Given the description of an element on the screen output the (x, y) to click on. 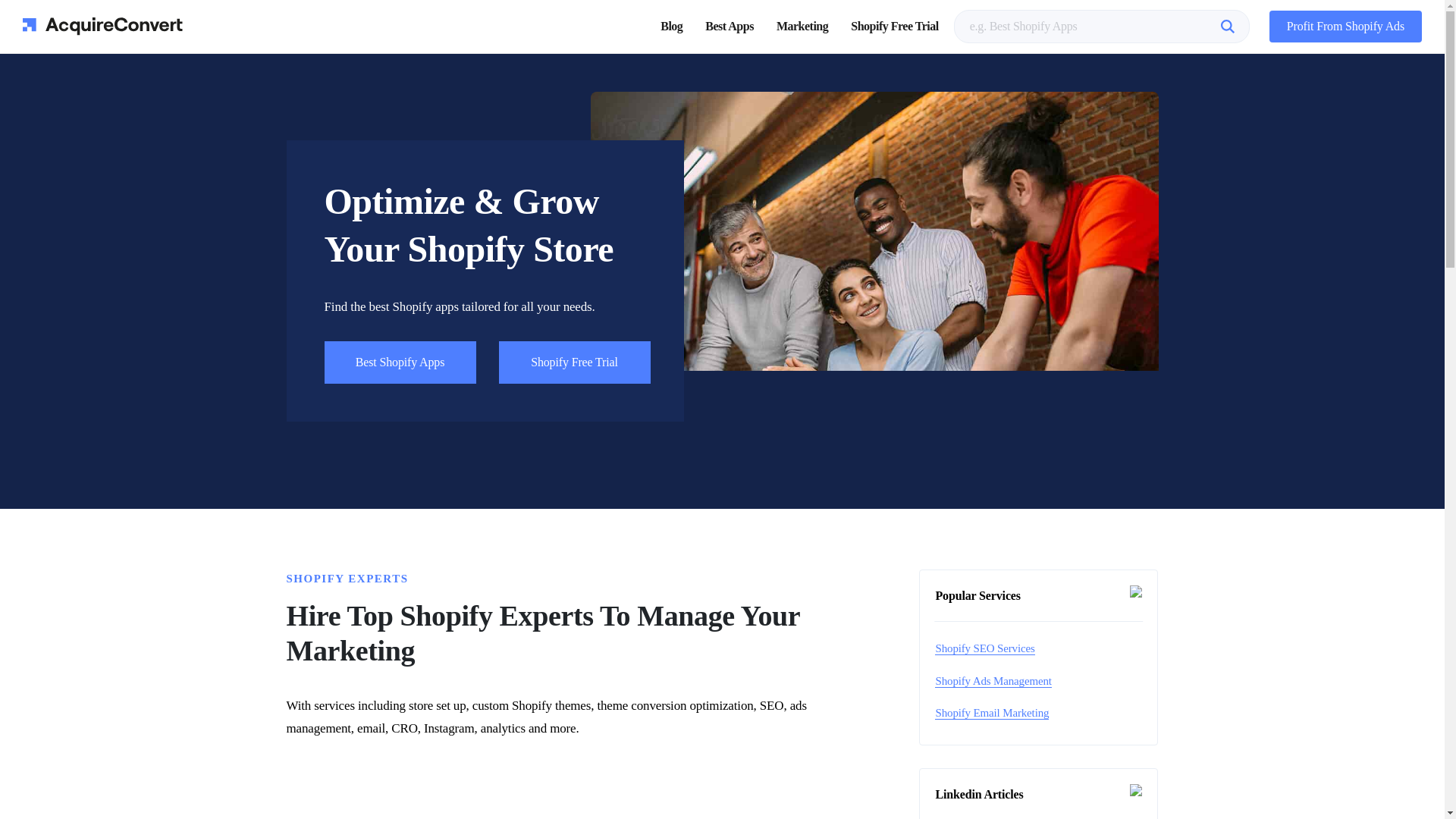
Shopify SEO Services (983, 648)
Blog (671, 25)
Marketing (802, 25)
Search (1230, 26)
Shopify Free Trial (893, 25)
Best Apps (729, 25)
Shopify Ads Management (992, 680)
Profit From Shopify Ads (1345, 26)
Search (1230, 26)
Best Shopify Apps (400, 362)
